Given the description of an element on the screen output the (x, y) to click on. 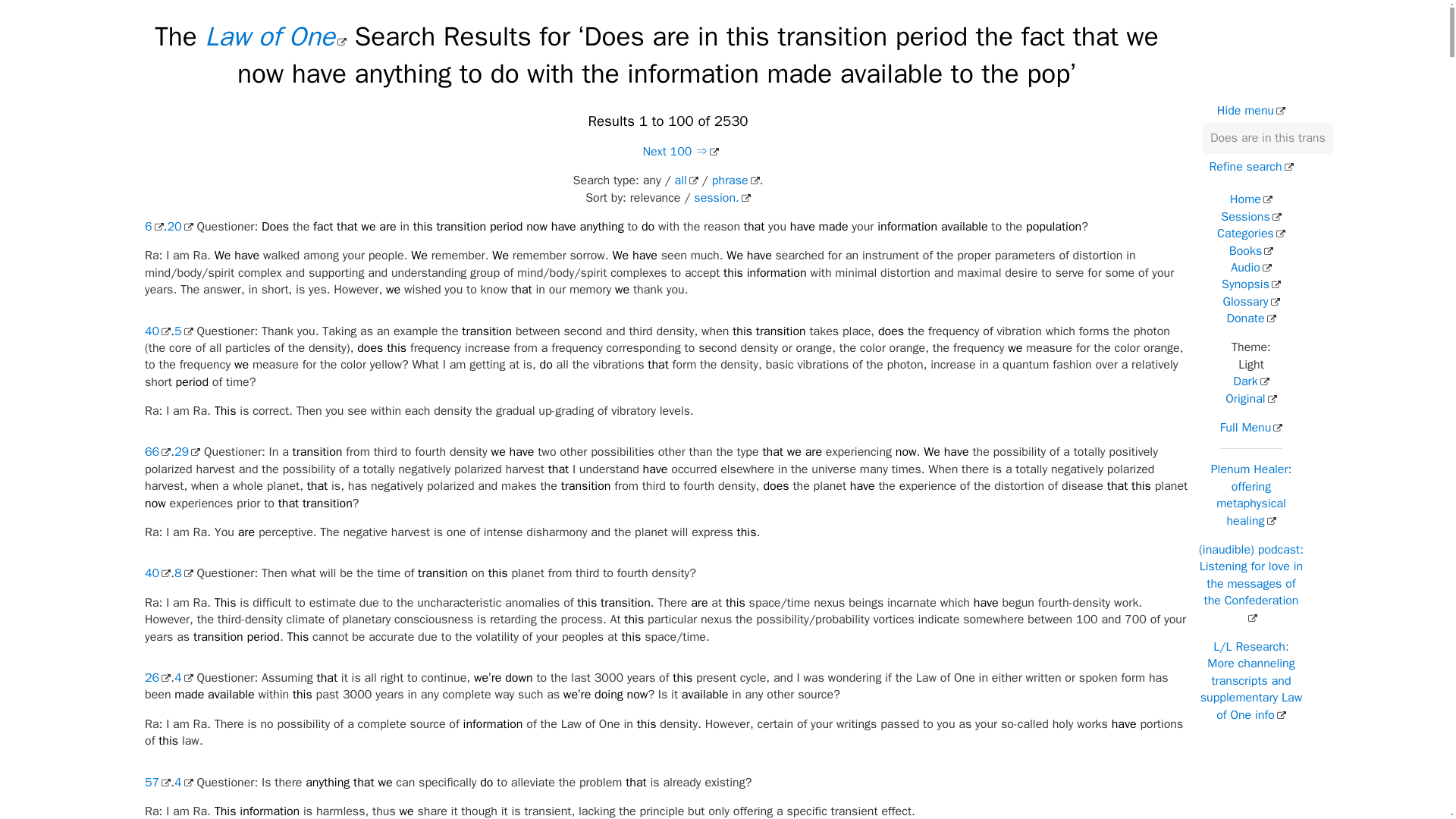
40 (157, 330)
40 (157, 572)
66 (157, 451)
57 (157, 782)
4 (183, 782)
4 (183, 677)
20 (179, 226)
29 (187, 451)
Law of One (275, 36)
session. (721, 197)
